Given the description of an element on the screen output the (x, y) to click on. 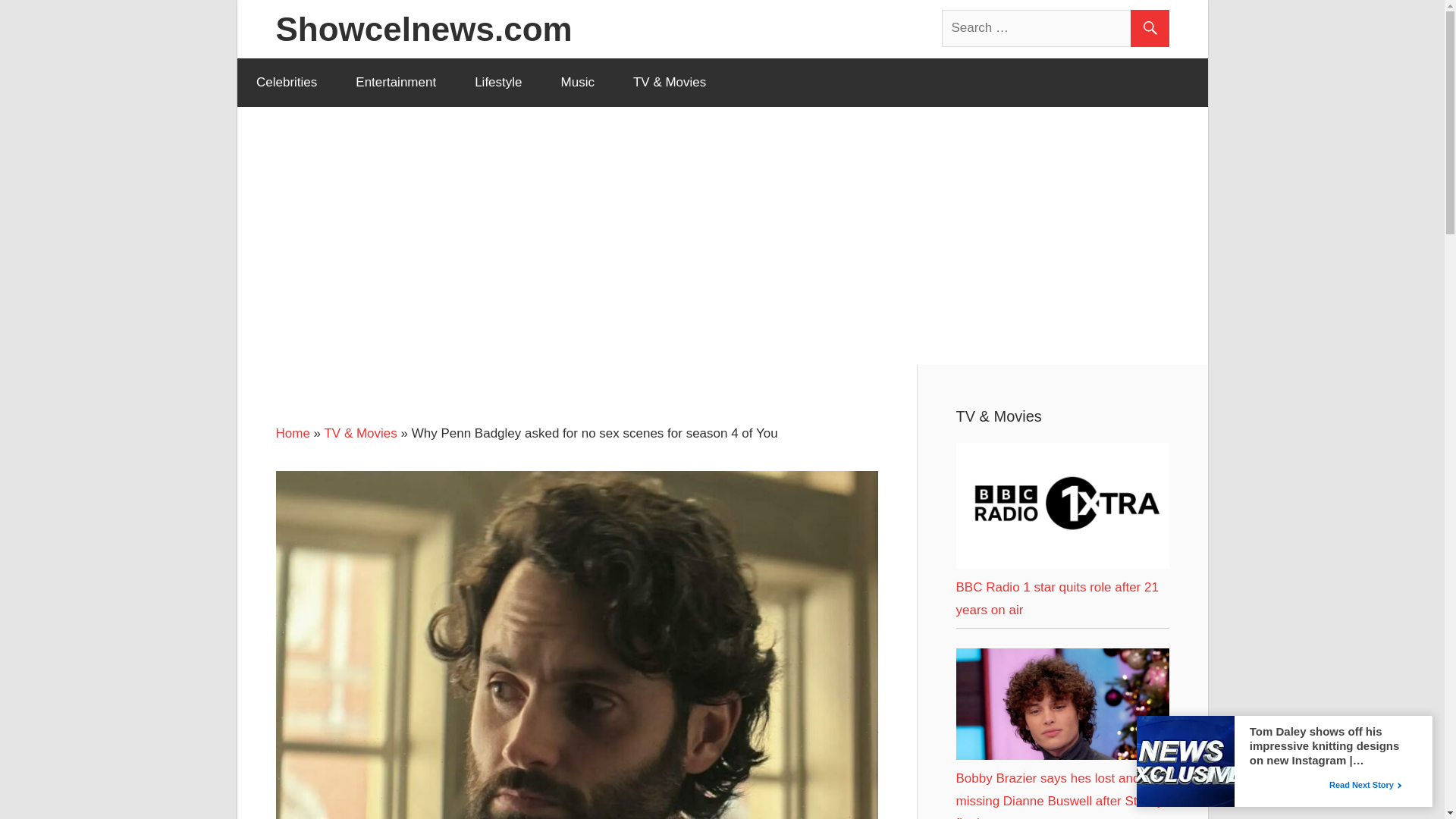
Home (293, 432)
Showcelnews.com (424, 28)
Music (576, 82)
Search for: (1055, 27)
Entertainment (395, 82)
Celebrities (285, 82)
BBC Radio 1 star quits role after 21 years on air (1056, 598)
Lifestyle (498, 82)
